Given the description of an element on the screen output the (x, y) to click on. 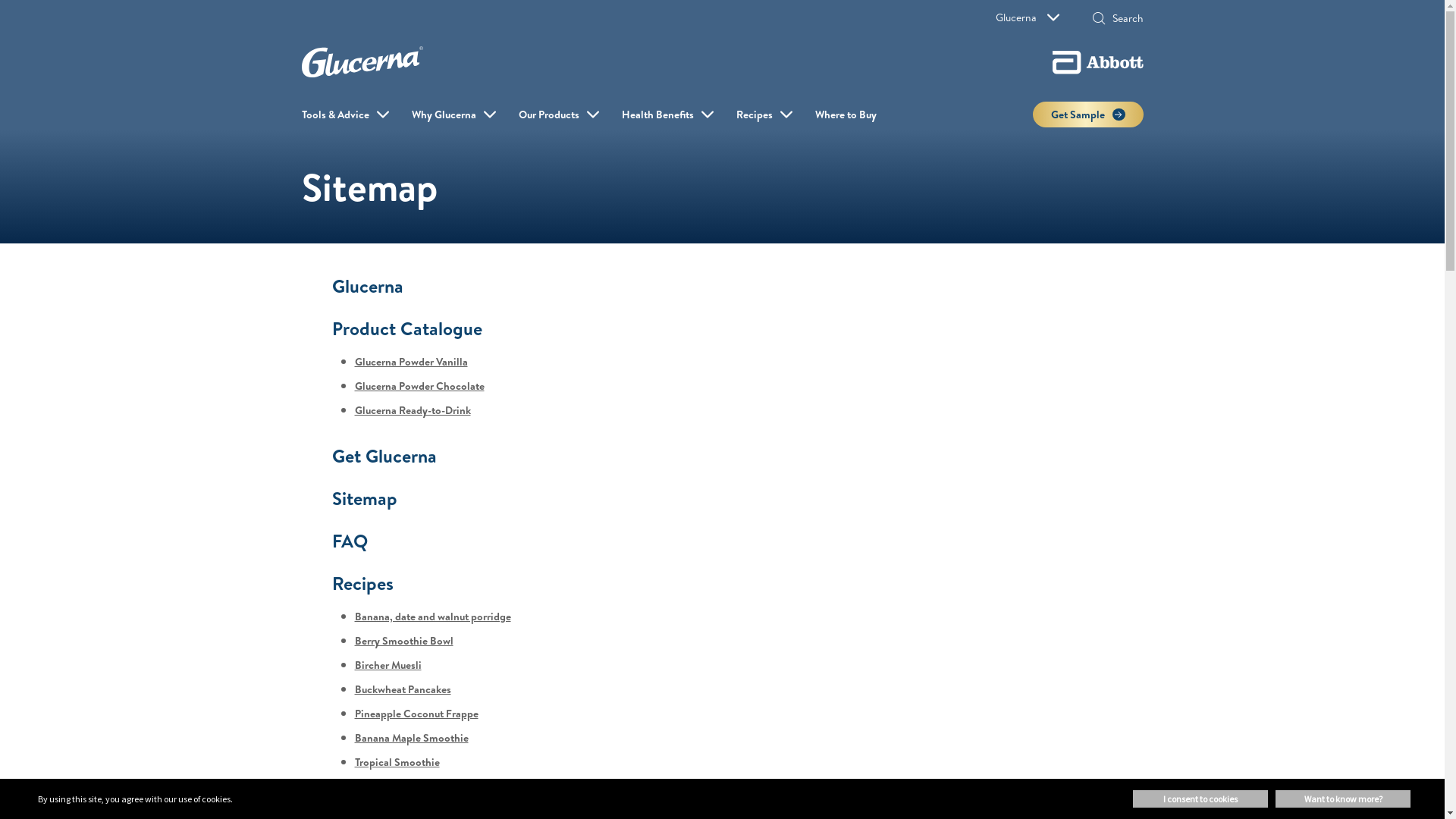
Recipes Element type: text (753, 114)
Berry Smoothie Bowl Element type: text (403, 640)
Bircher Muesli Element type: text (387, 664)
i consent to cookies Element type: text (1199, 798)
Product Catalogue Element type: text (407, 328)
Get Glucerna Element type: text (384, 455)
Buckwheat Pancakes Element type: text (402, 688)
Glucerna Powder Vanilla Element type: text (410, 361)
Banana, date and walnut porridge Element type: text (432, 616)
Get Sample Element type: text (1087, 114)
Tools & Advice Element type: text (335, 114)
FAQ Element type: text (349, 540)
Pineapple Coconut Frappe Element type: text (416, 713)
Sitemap Element type: text (364, 498)
Glucerna Element type: text (1026, 16)
Why Glucerna Element type: text (443, 114)
Cream of Mushroom Soup Element type: text (415, 810)
Health Benefits Element type: text (657, 114)
Glucerna Ready-to-Drink Element type: text (412, 409)
Banana Maple Smoothie Element type: text (411, 737)
want to know more? Element type: text (1342, 798)
Our Products Element type: text (548, 114)
Tropical Smoothie Element type: text (396, 761)
Glucerna Element type: text (367, 285)
Recipes Element type: text (362, 583)
Pumpkin Soup Element type: text (387, 785)
Where to Buy Element type: text (844, 114)
Glucerna Powder Chocolate Element type: text (419, 385)
